Given the description of an element on the screen output the (x, y) to click on. 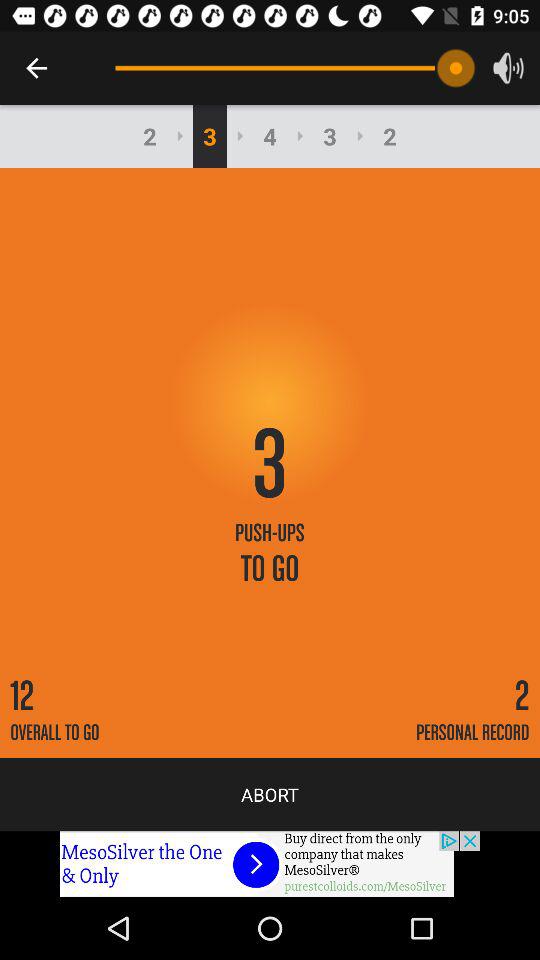
pop-up advertisement (270, 864)
